Given the description of an element on the screen output the (x, y) to click on. 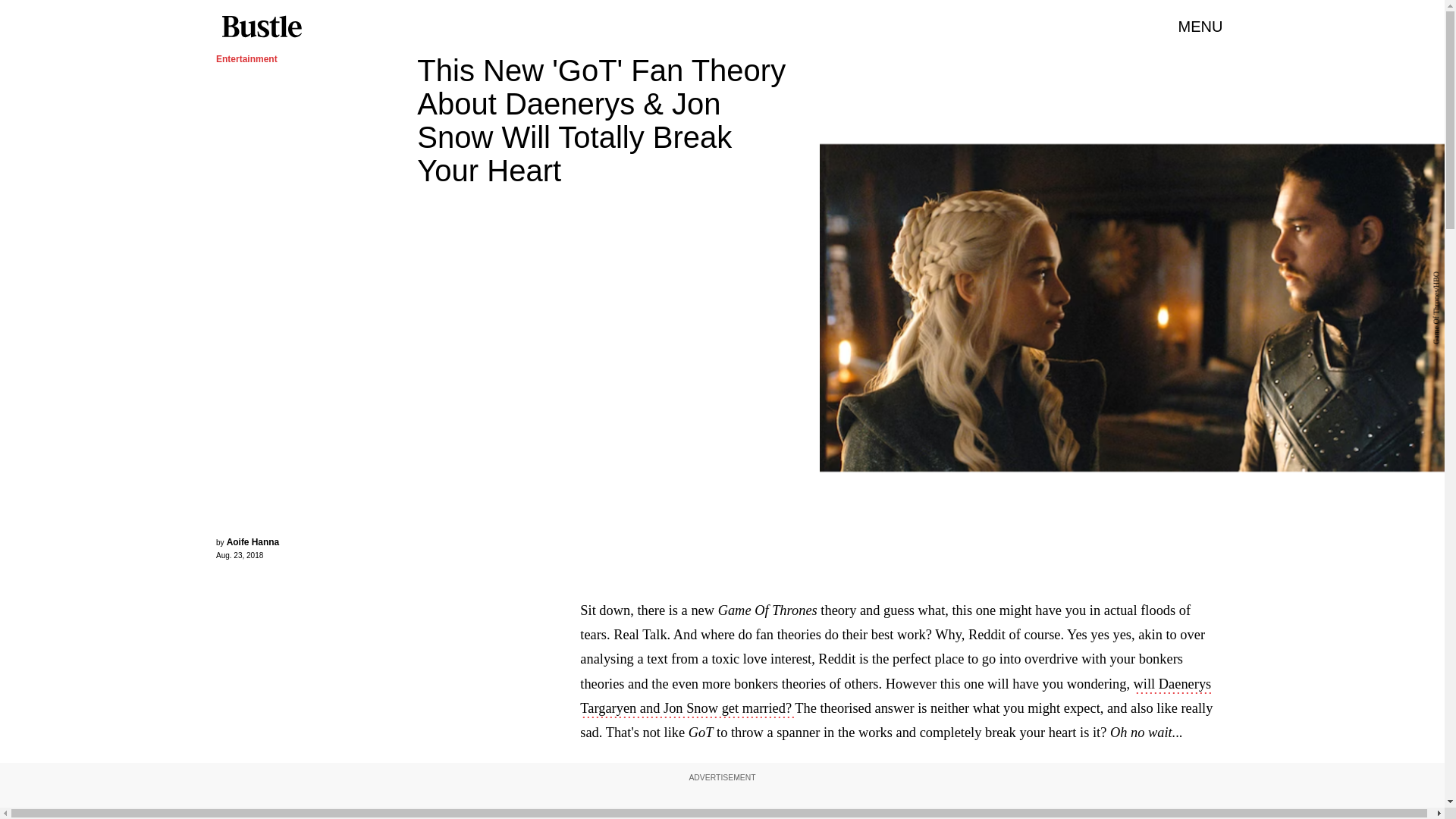
will Daenerys Targaryen and Jon Snow get married? (895, 697)
Bustle (261, 26)
